Given the description of an element on the screen output the (x, y) to click on. 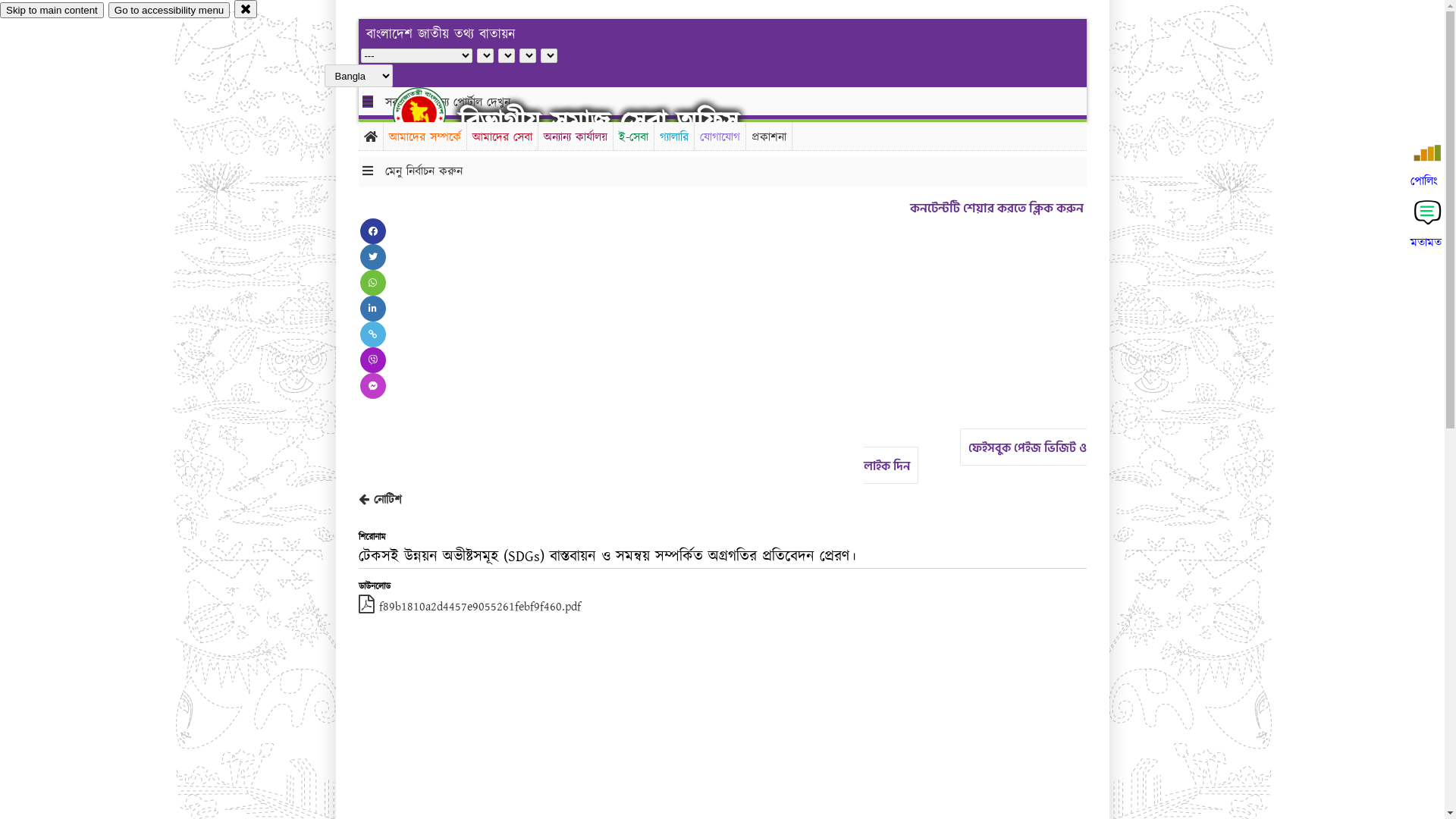
Go to accessibility menu Element type: text (168, 10)
close Element type: hover (245, 9)
f89b1810a2d4457e9055261febf9f460.pdf Element type: text (468, 606)
Skip to main content Element type: text (51, 10)

                
             Element type: hover (431, 112)
